Given the description of an element on the screen output the (x, y) to click on. 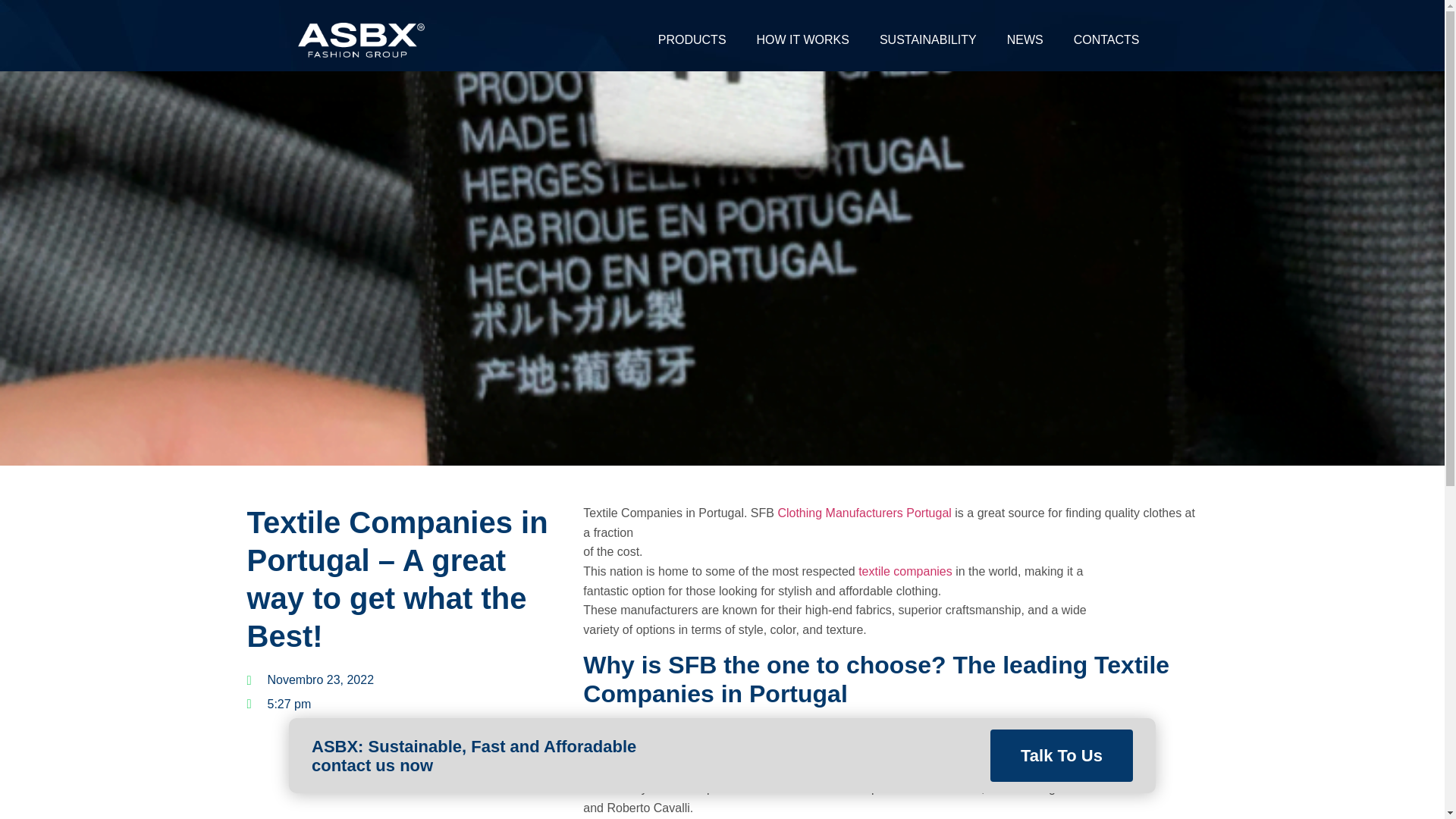
SFB (861, 730)
SUSTAINABILITY (927, 39)
Novembro 23, 2022 (310, 680)
Clothing Manufacturers Portugal (863, 512)
Talk To Us (1061, 755)
textile companies (905, 571)
PRODUCTS (692, 39)
HOW IT WORKS (802, 39)
Talk To Us (1061, 755)
CONTACTS (1106, 39)
NEWS (1024, 39)
